Given the description of an element on the screen output the (x, y) to click on. 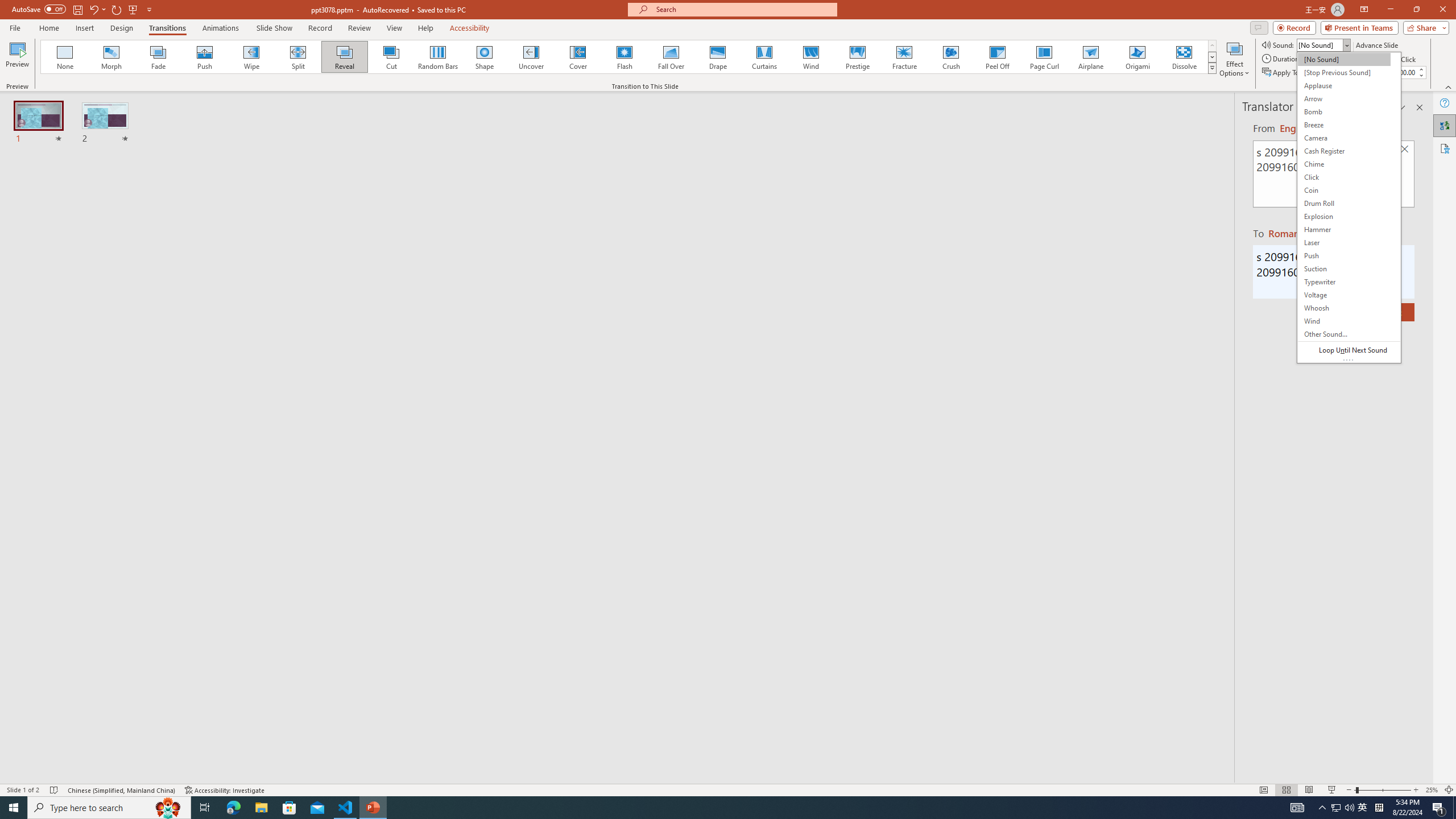
Class: NetUIAnchor (728, 7)
Page 1 content (719, 416)
Show the Ribbon (687, 7)
